Given the description of an element on the screen output the (x, y) to click on. 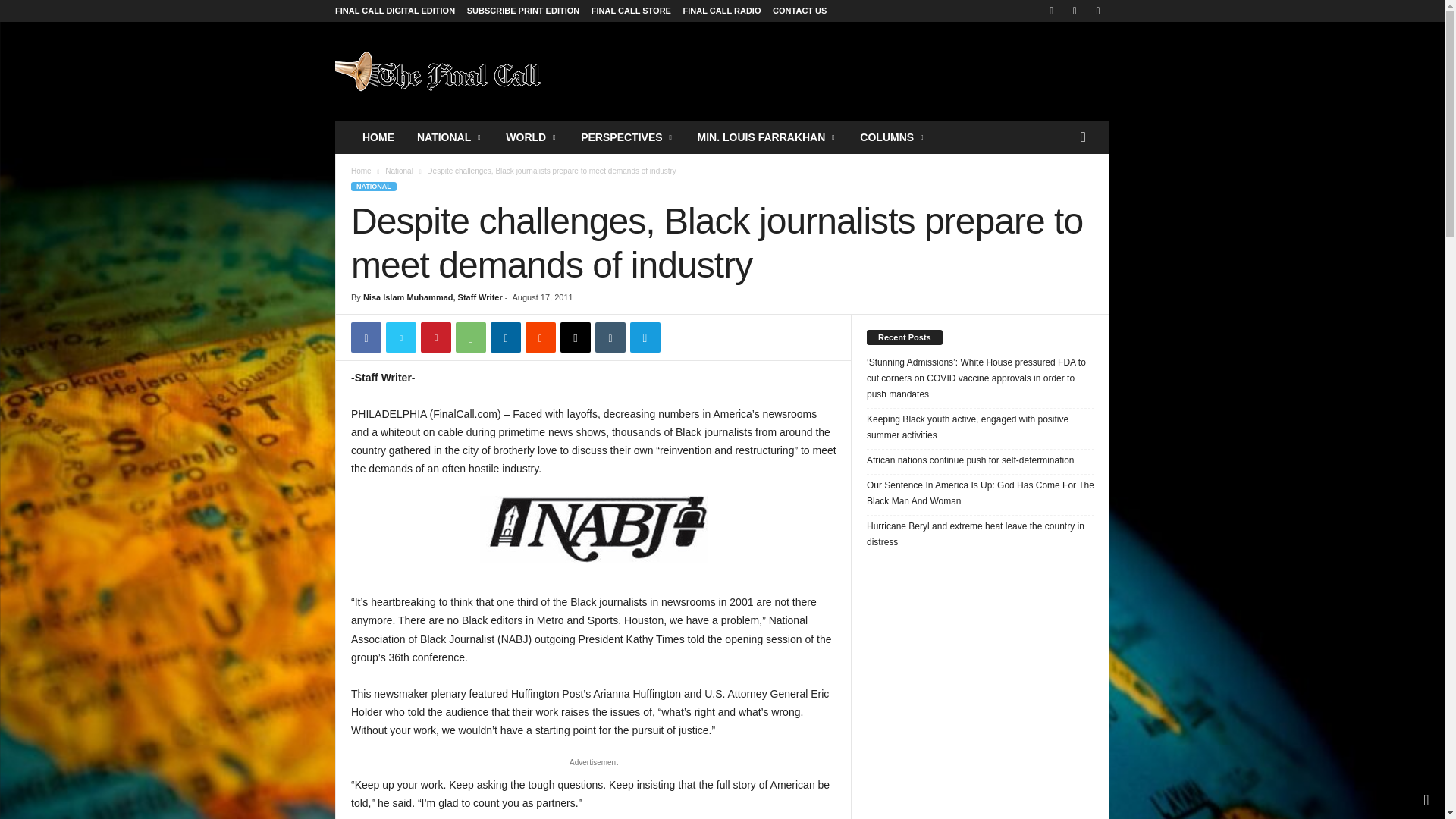
FINAL CALL STORE (631, 10)
FINAL CALL DIGITAL EDITION (394, 10)
NATIONAL (450, 136)
HOME (378, 136)
SUBSCRIBE PRINT EDITION (523, 10)
Final Call News (437, 70)
CONTACT US (800, 10)
FINAL CALL RADIO (721, 10)
